Given the description of an element on the screen output the (x, y) to click on. 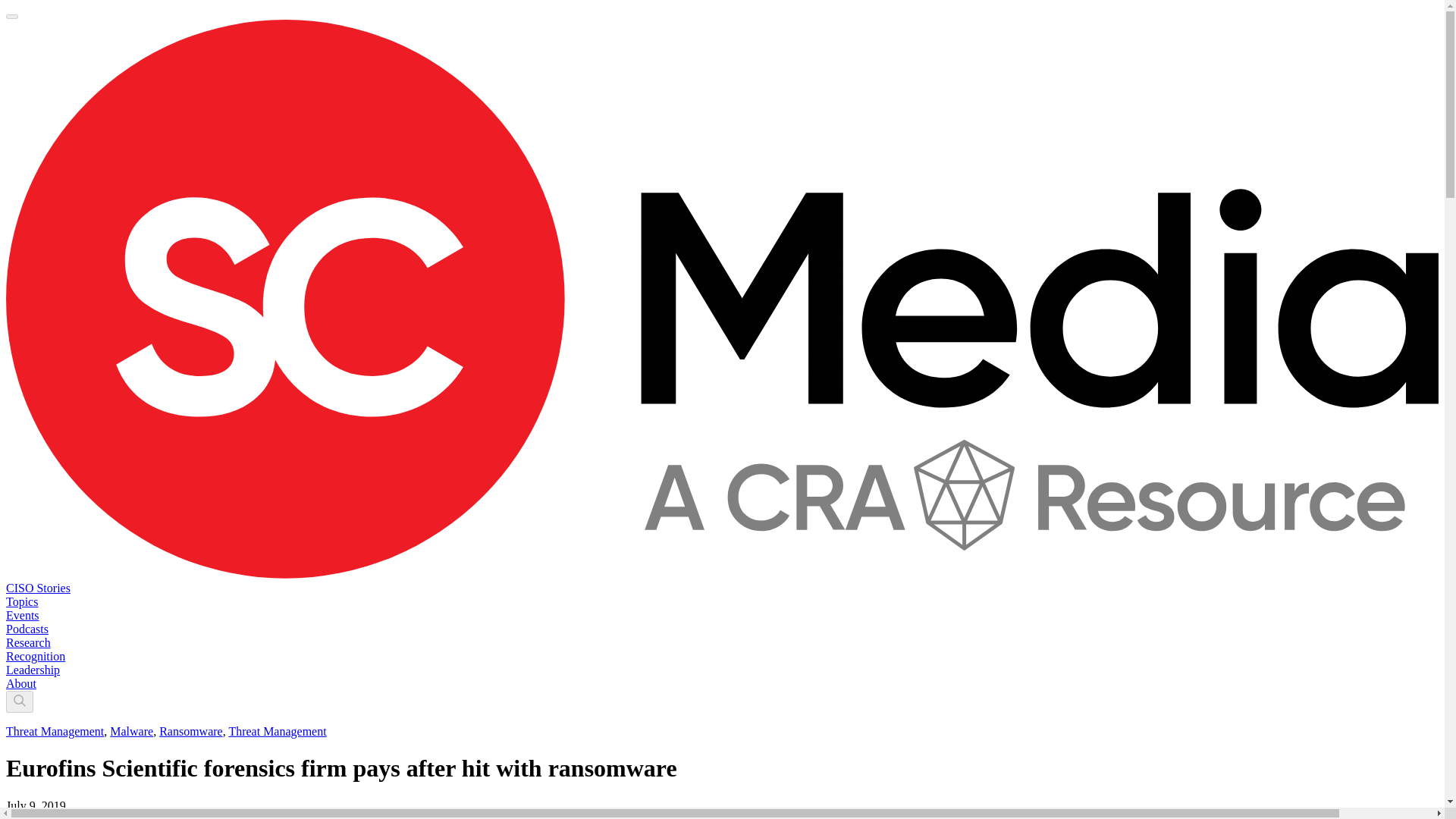
Malware (131, 730)
Threat Management (277, 730)
Topics (21, 601)
Research (27, 642)
Recognition (35, 656)
CISO Stories (37, 587)
Podcasts (26, 628)
Events (22, 615)
Ransomware (190, 730)
